Given the description of an element on the screen output the (x, y) to click on. 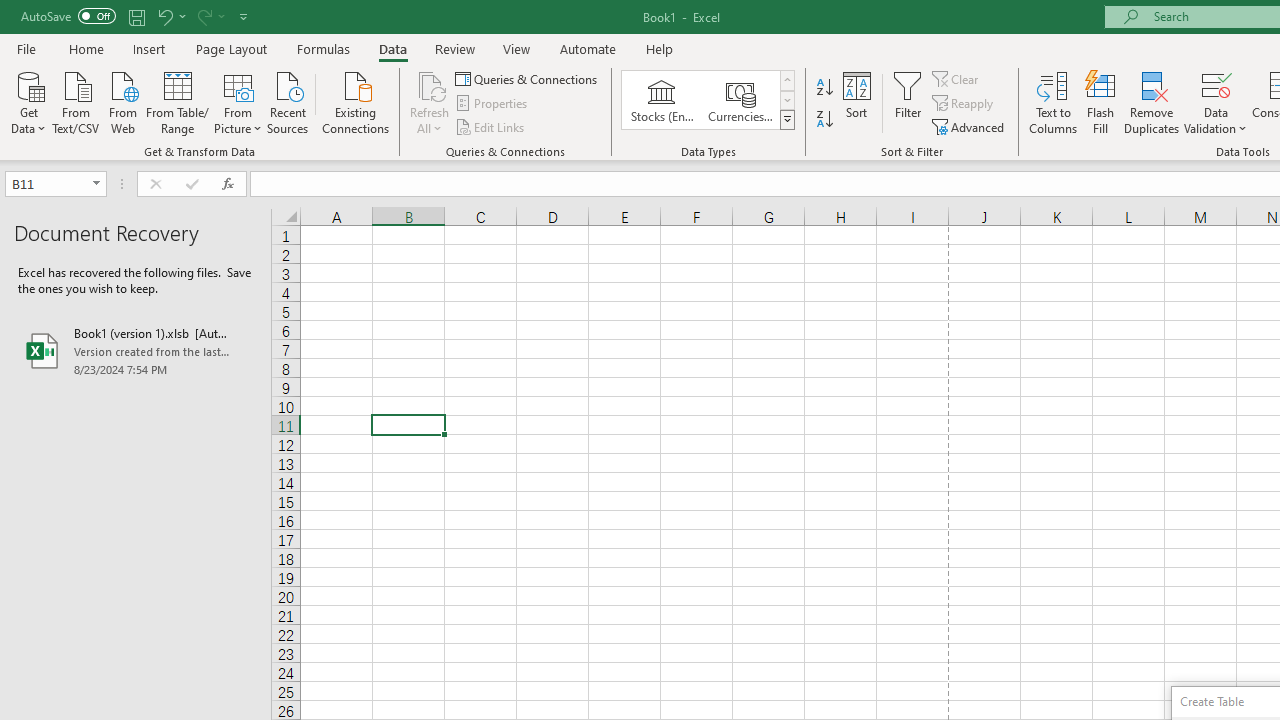
From Table/Range (177, 101)
From Text/CSV (75, 101)
Advanced... (970, 126)
Edit Links (491, 126)
Get Data (28, 101)
